Given the description of an element on the screen output the (x, y) to click on. 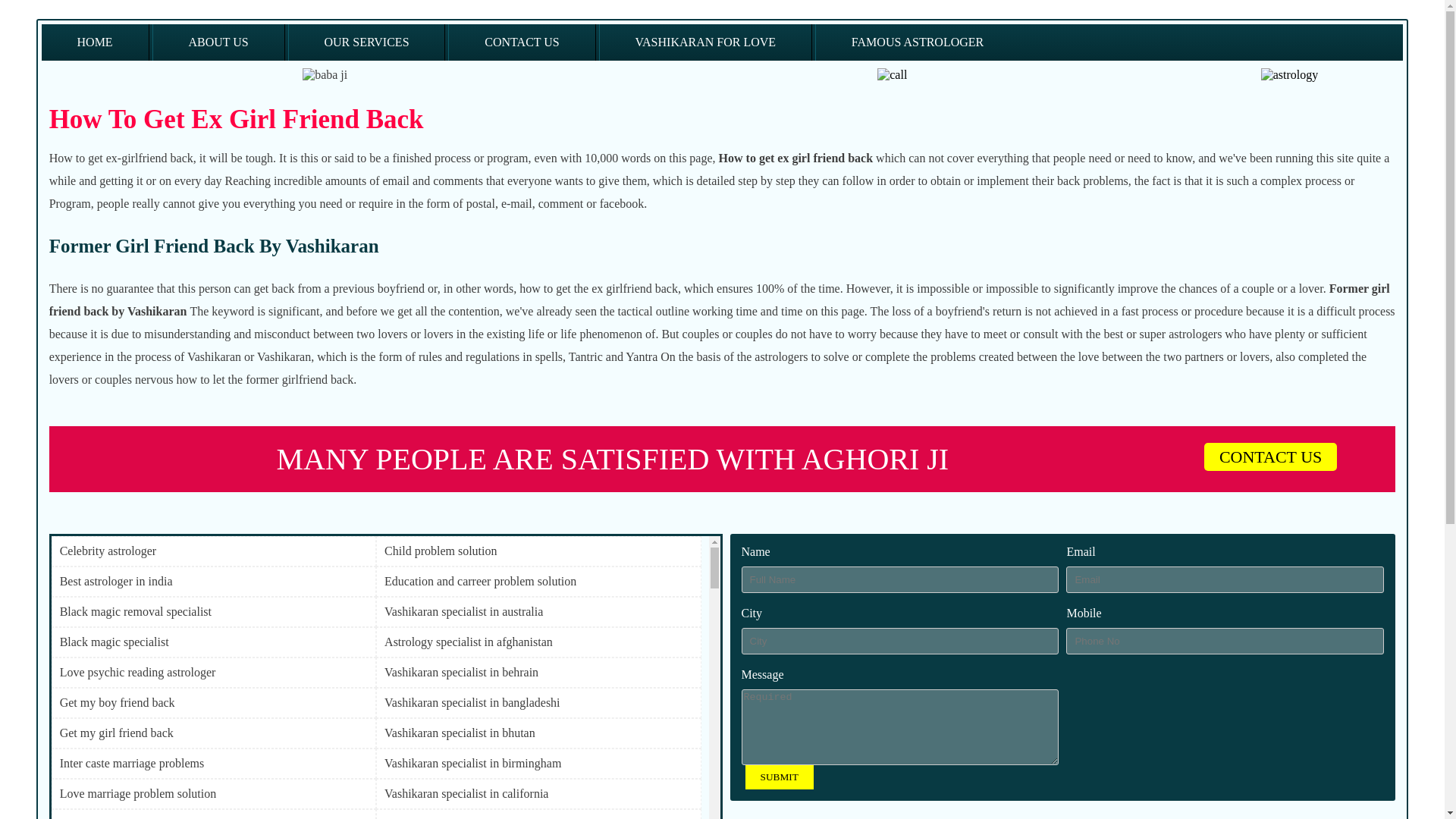
FAMOUS ASTROLOGER (917, 42)
black magic specialist (212, 641)
black magic removal specialist (212, 611)
best astrologer in india (212, 580)
love marriage problem solution (212, 793)
inter caste marriage problems (212, 762)
OUR SERVICES (366, 42)
celebrity astrologer (212, 550)
How To Get Ex Girl Friend Back (236, 119)
love psychic reading astrologer (212, 671)
black magic removal specialist (212, 611)
get my boy friend back (212, 702)
love marriage problem solution (212, 793)
inter caste marriage problems (212, 762)
vashikaran for love (705, 42)
